Given the description of an element on the screen output the (x, y) to click on. 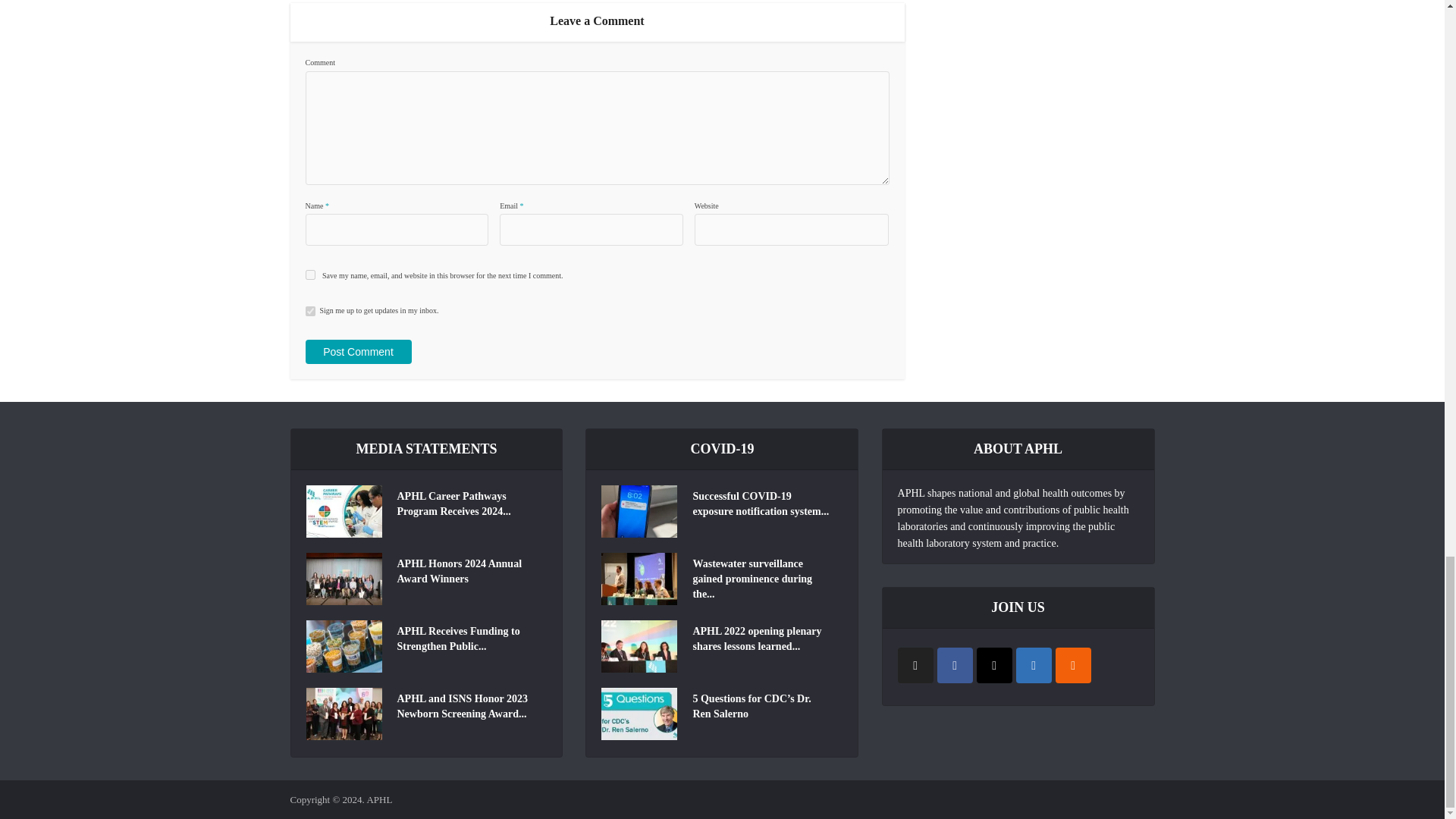
yes (309, 275)
1 (309, 311)
Post Comment (357, 351)
